Given the description of an element on the screen output the (x, y) to click on. 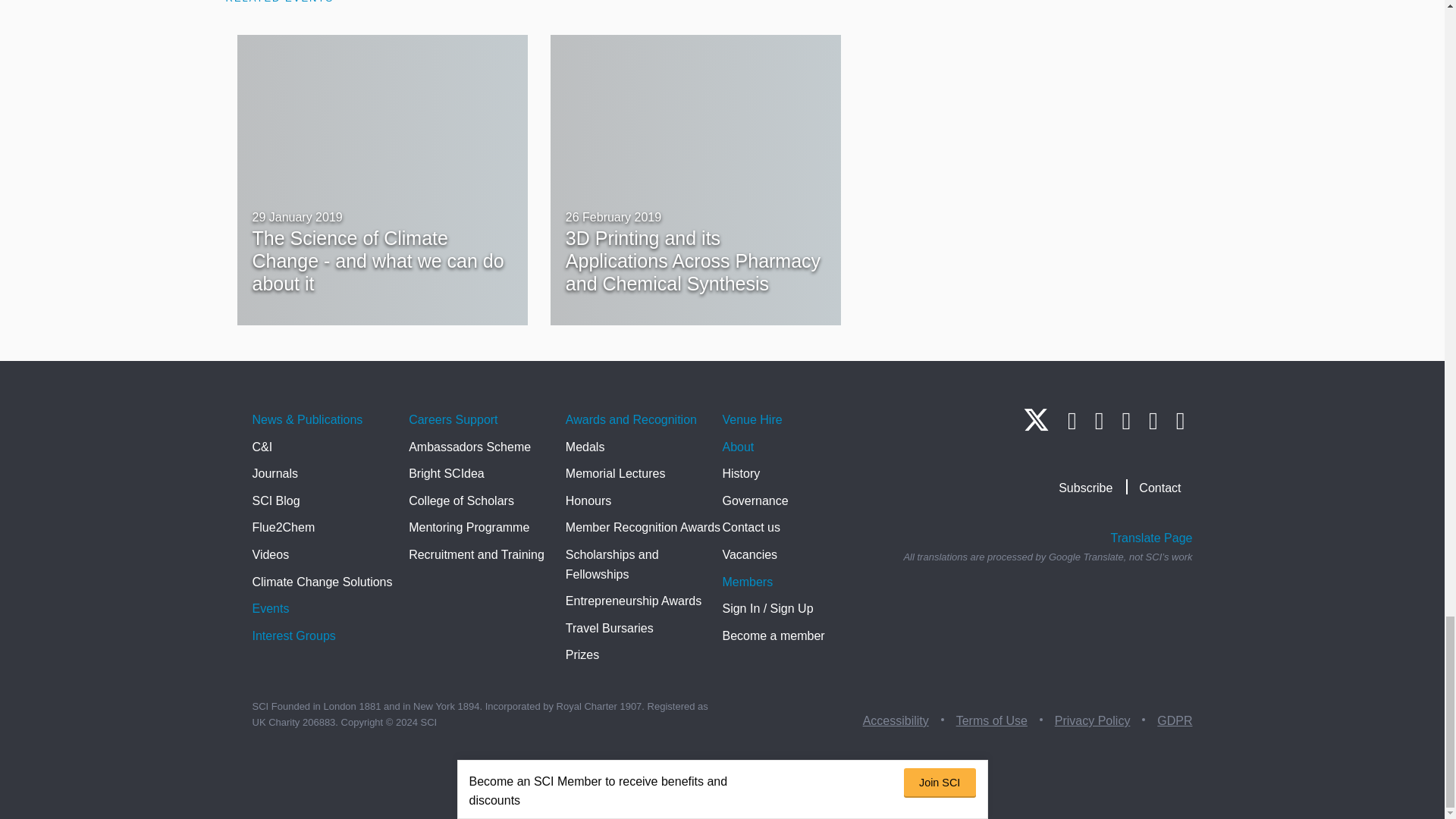
Twitter (1036, 426)
Instagram (1098, 420)
LinkedIn (1072, 420)
